Given the description of an element on the screen output the (x, y) to click on. 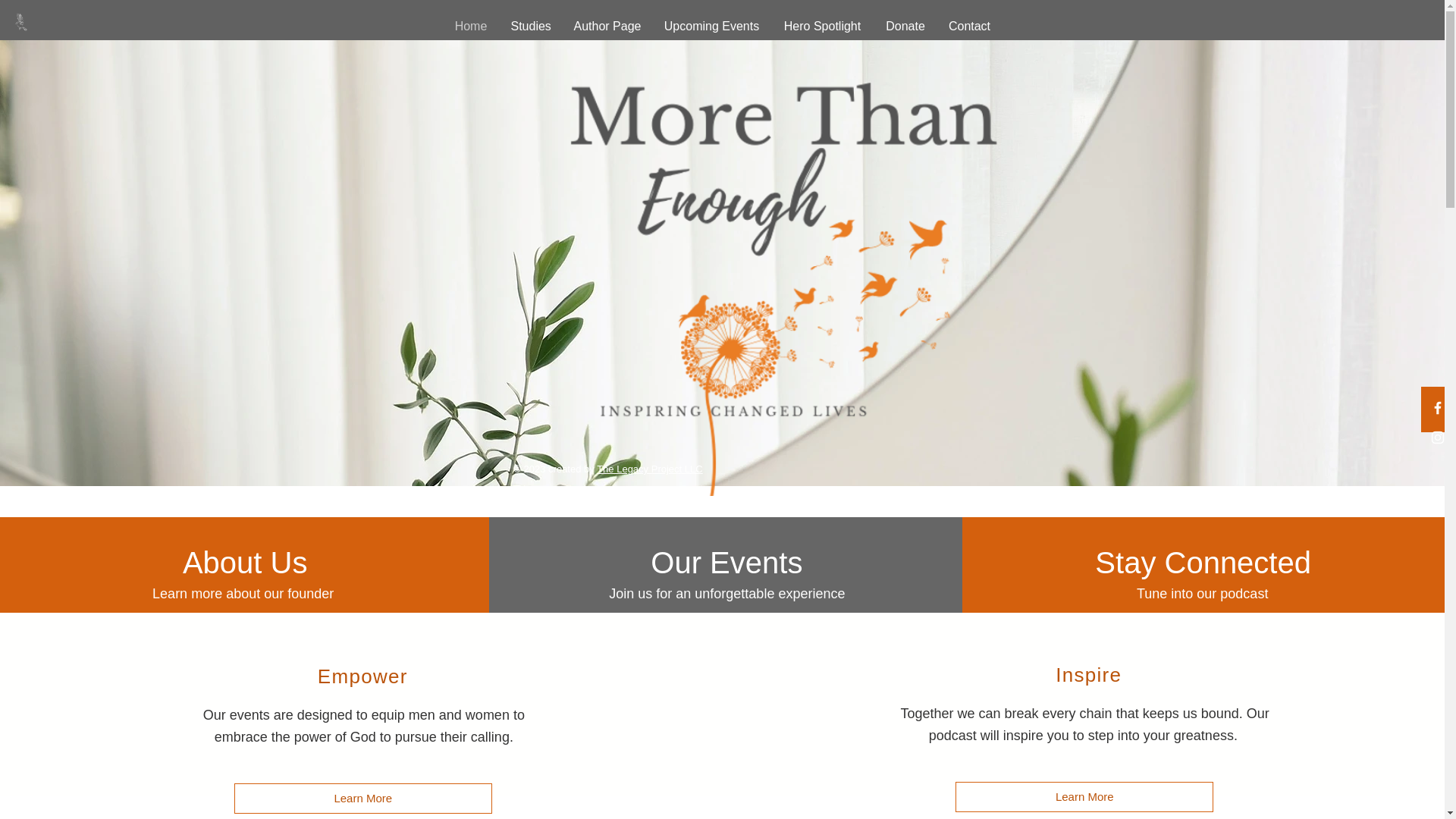
Hero Spotlight (821, 26)
Learn More (1083, 797)
Stay Connected (1203, 562)
Contact (970, 26)
Our Events (726, 562)
Author Page (607, 26)
Learn More (363, 798)
The Legacy Project LLC (648, 469)
Donate (904, 26)
Studies (530, 26)
About Us (245, 562)
Upcoming Events (711, 26)
Home (470, 26)
